Given the description of an element on the screen output the (x, y) to click on. 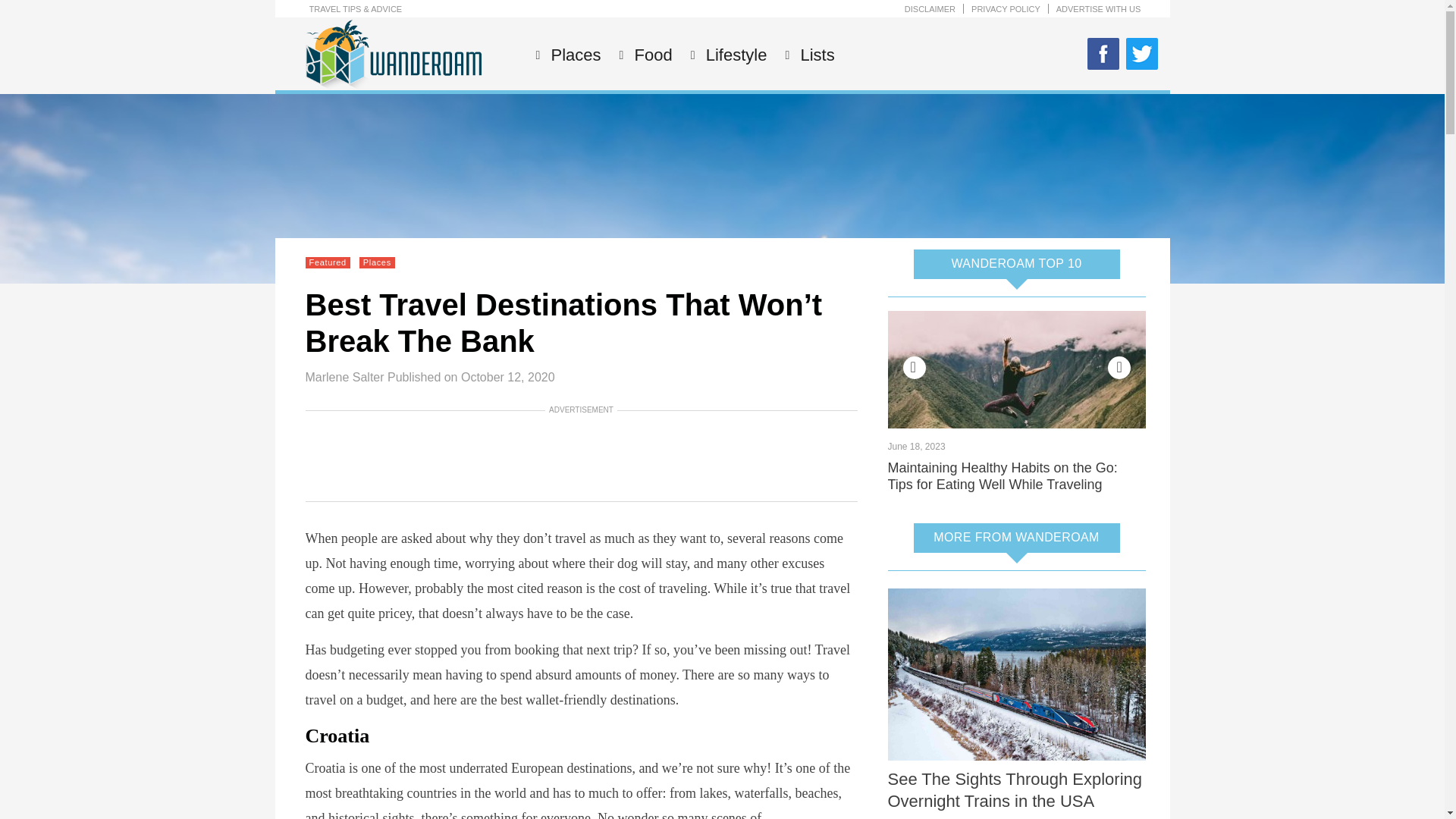
Food (651, 55)
Featured (327, 261)
Wanderoam (392, 87)
Lists (815, 55)
Marlene Salter (344, 377)
Lifestyle (734, 55)
DISCLAIMER (929, 8)
ADVERTISE WITH US (1099, 8)
Places (574, 55)
PRIVACY POLICY (1006, 8)
